Given the description of an element on the screen output the (x, y) to click on. 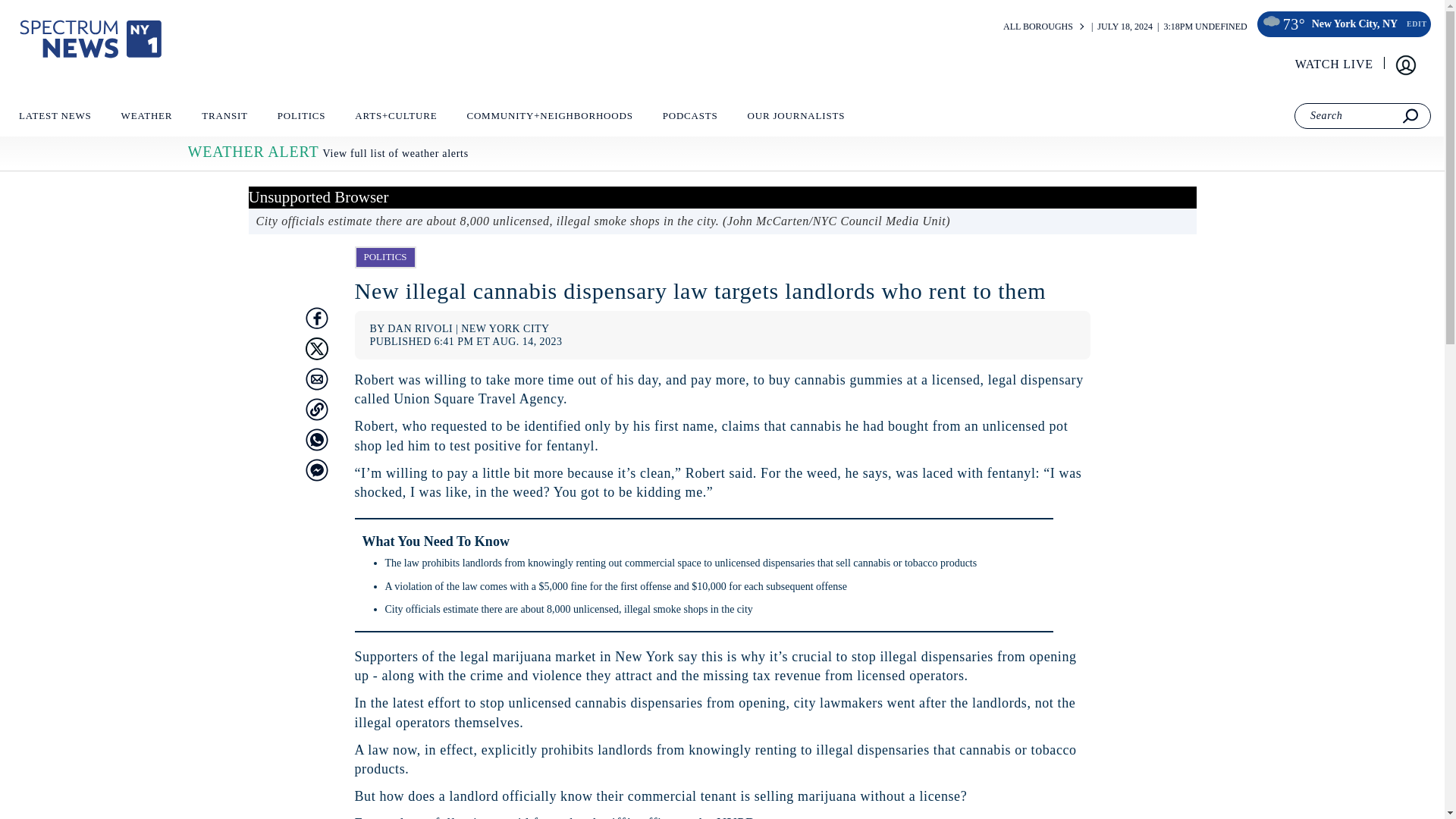
Share with Facebook Messenger (315, 469)
ALL BOROUGHS (1038, 26)
Copy article link (315, 409)
EDIT (1415, 23)
Share with Whatsapp (315, 439)
WEATHER (146, 119)
Share with Email (315, 378)
New York City, NY (1354, 23)
WATCH LIVE (1334, 64)
LATEST NEWS (55, 119)
Share with Twitter (315, 348)
Share with Facebook (315, 318)
